Given the description of an element on the screen output the (x, y) to click on. 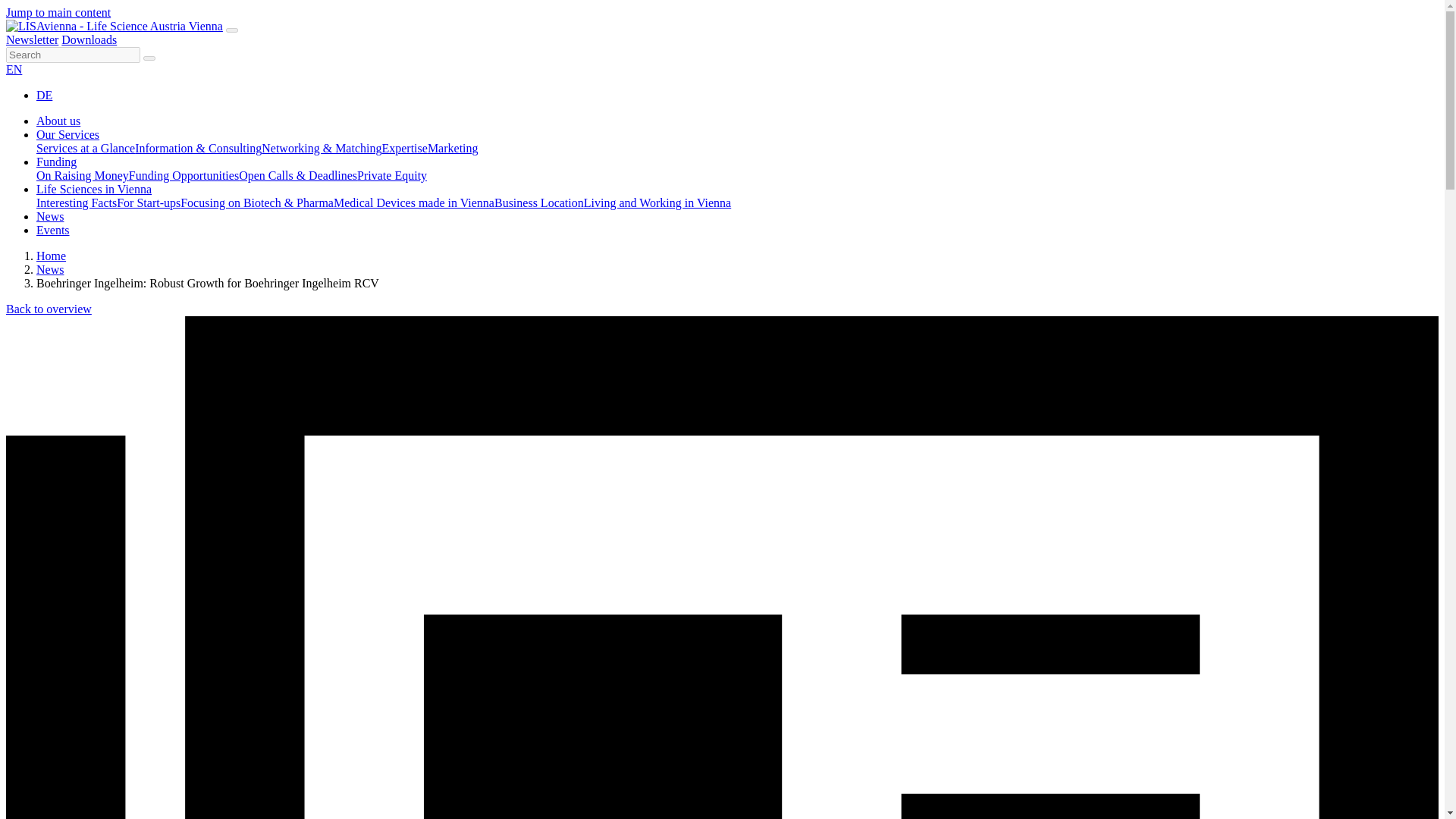
Our Services (67, 133)
LISAvienna - back to home (113, 25)
Life Sciences in Vienna (93, 188)
News (50, 215)
Private Equity (391, 174)
News (50, 269)
Downloads (88, 39)
Funding (56, 161)
Funding Opportunities (183, 174)
